Given the description of an element on the screen output the (x, y) to click on. 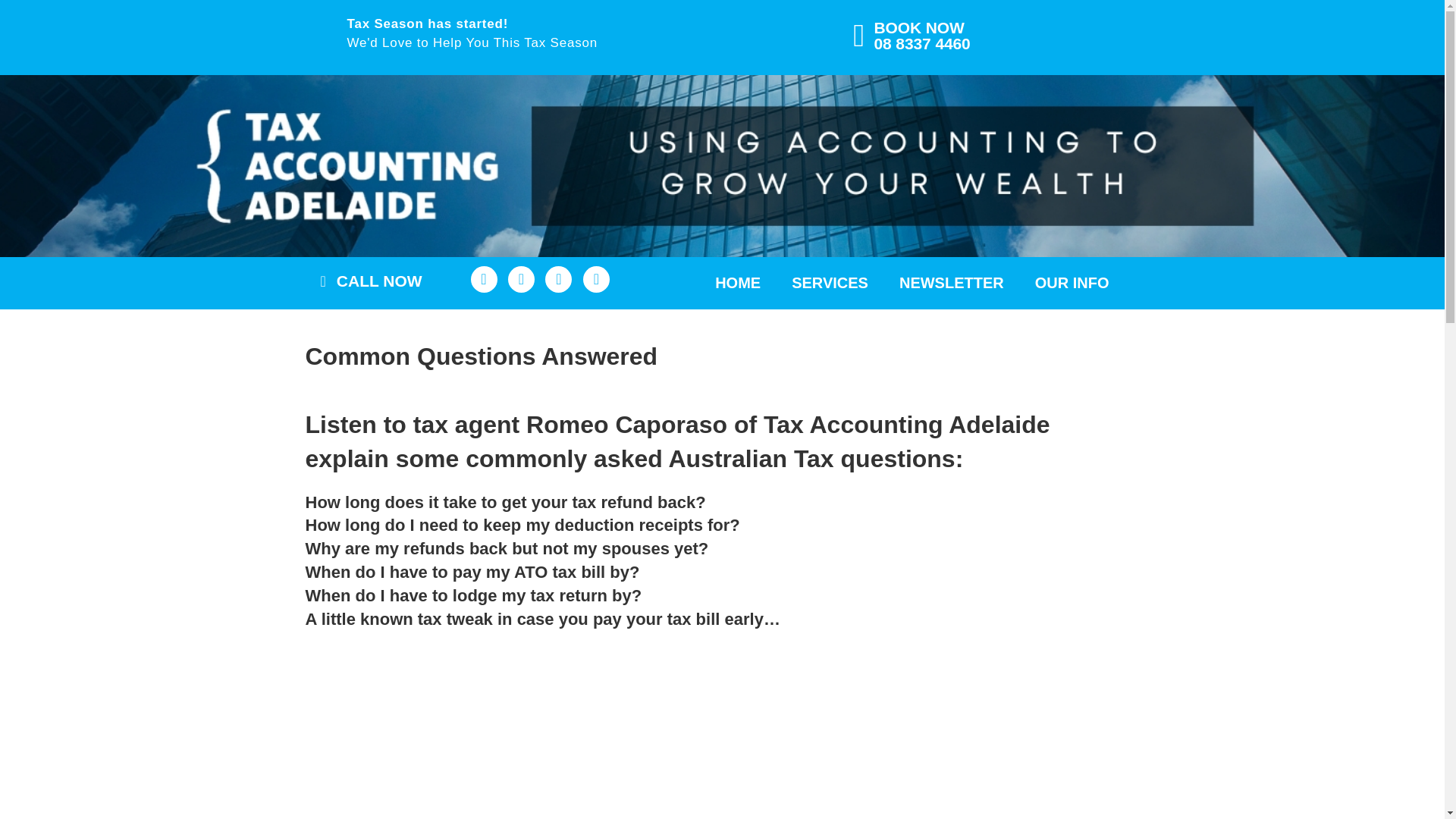
NEWSLETTER (951, 283)
CALL NOW (379, 280)
OUR INFO (1072, 283)
Contact Us (1072, 283)
BOOK NOW (918, 27)
Articles, Updates and Information to help you (951, 283)
SERVICES (829, 283)
HOME (738, 283)
